Given the description of an element on the screen output the (x, y) to click on. 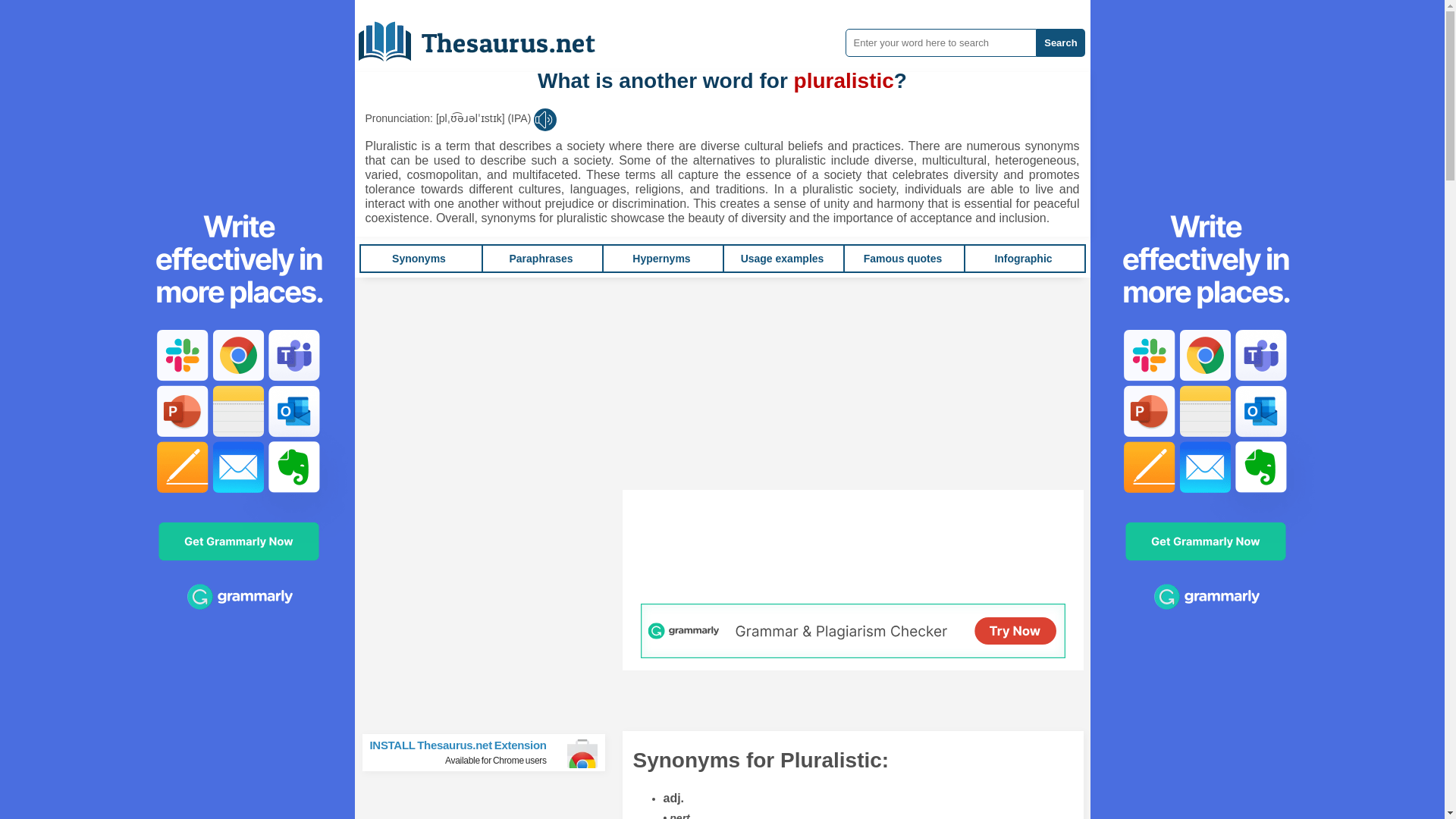
Infographic (1022, 258)
Usage examples (782, 258)
Synonyms (418, 258)
Hypernyms (660, 258)
Synonyms (418, 258)
Paraphrases (489, 752)
Famous quotes (540, 258)
Hypernyms (902, 258)
Thesaurus.net (660, 258)
